Given the description of an element on the screen output the (x, y) to click on. 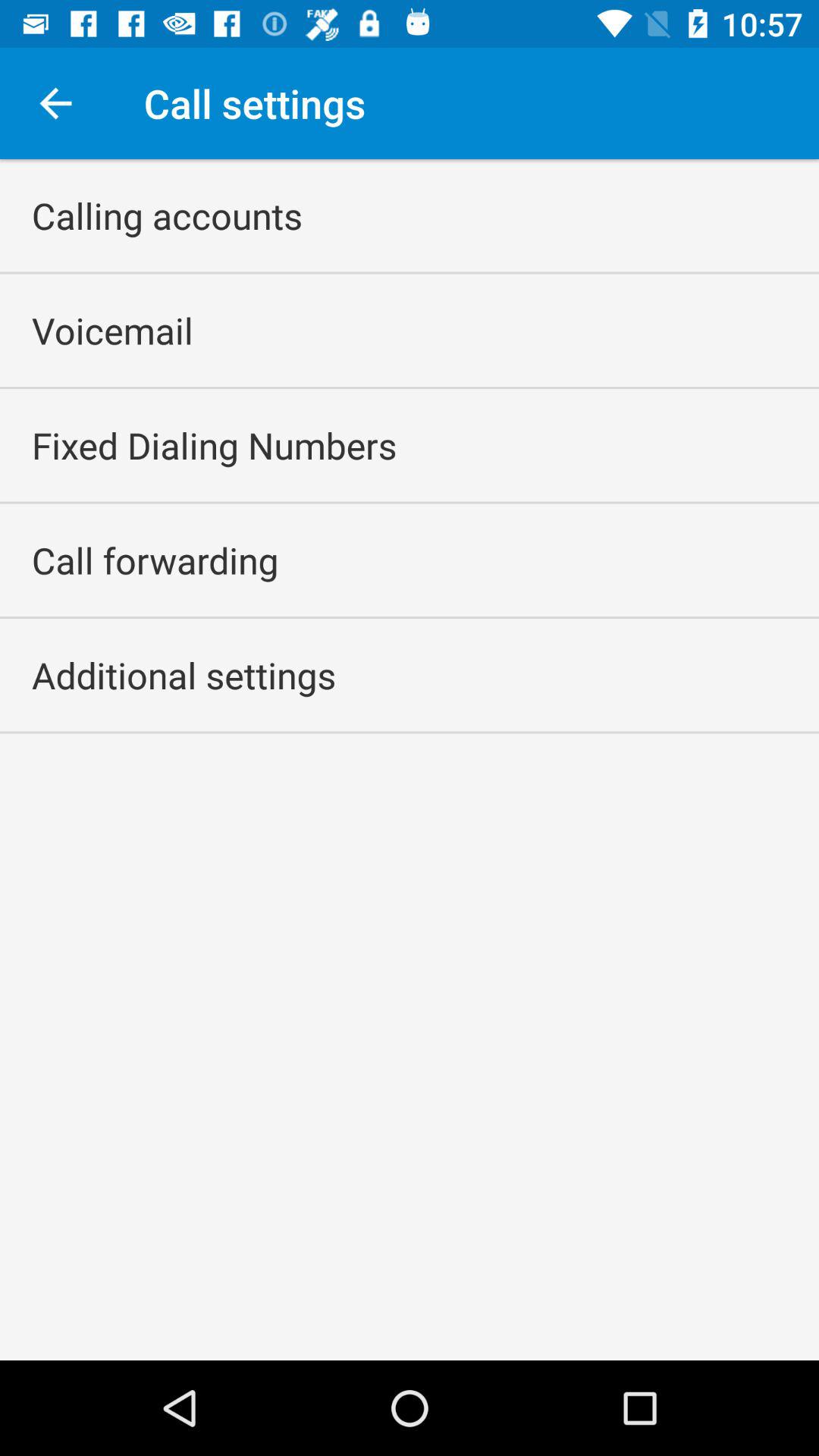
tap the icon below the voicemail item (213, 444)
